Given the description of an element on the screen output the (x, y) to click on. 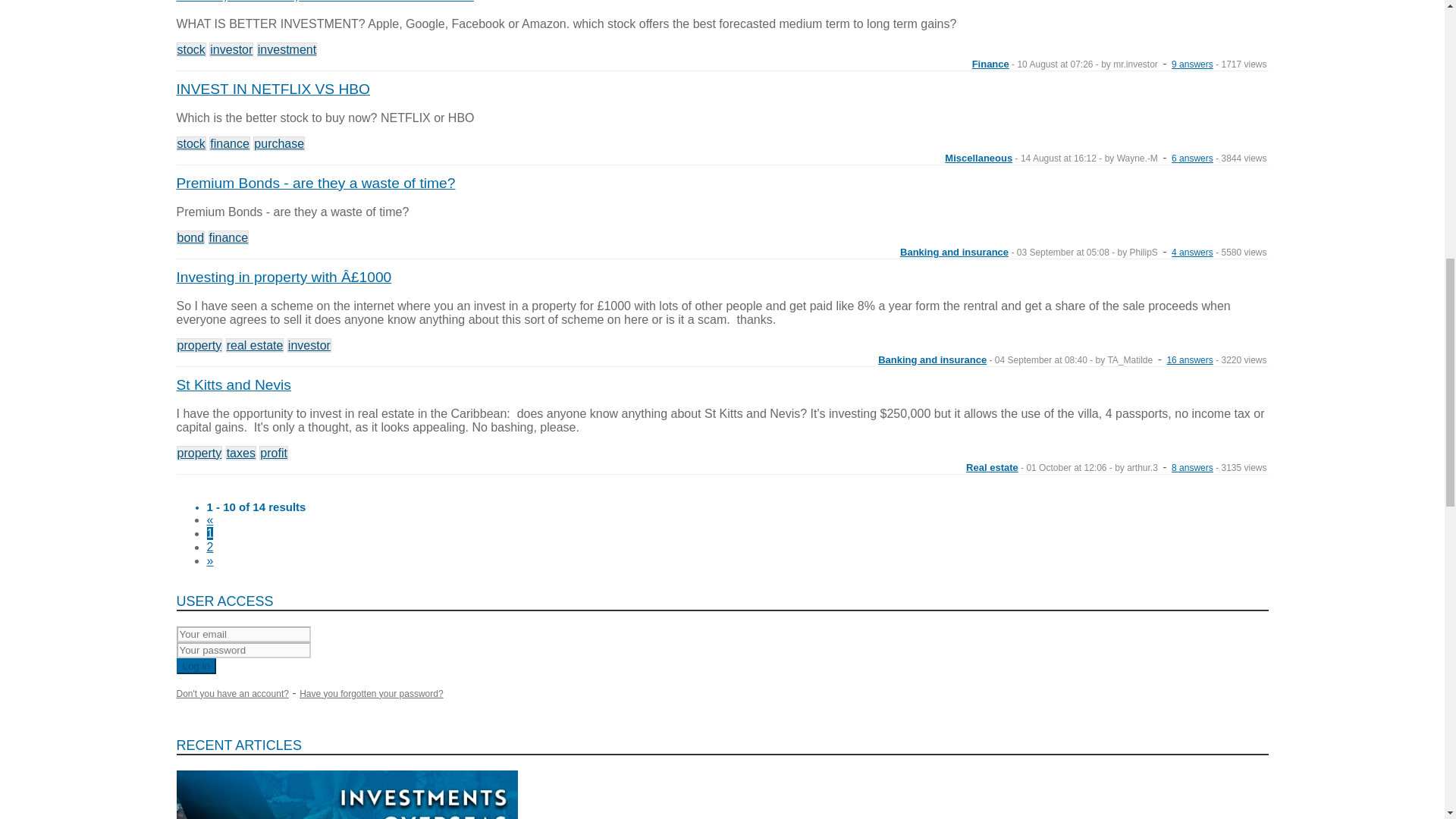
investor (231, 49)
stock (190, 49)
